Given the description of an element on the screen output the (x, y) to click on. 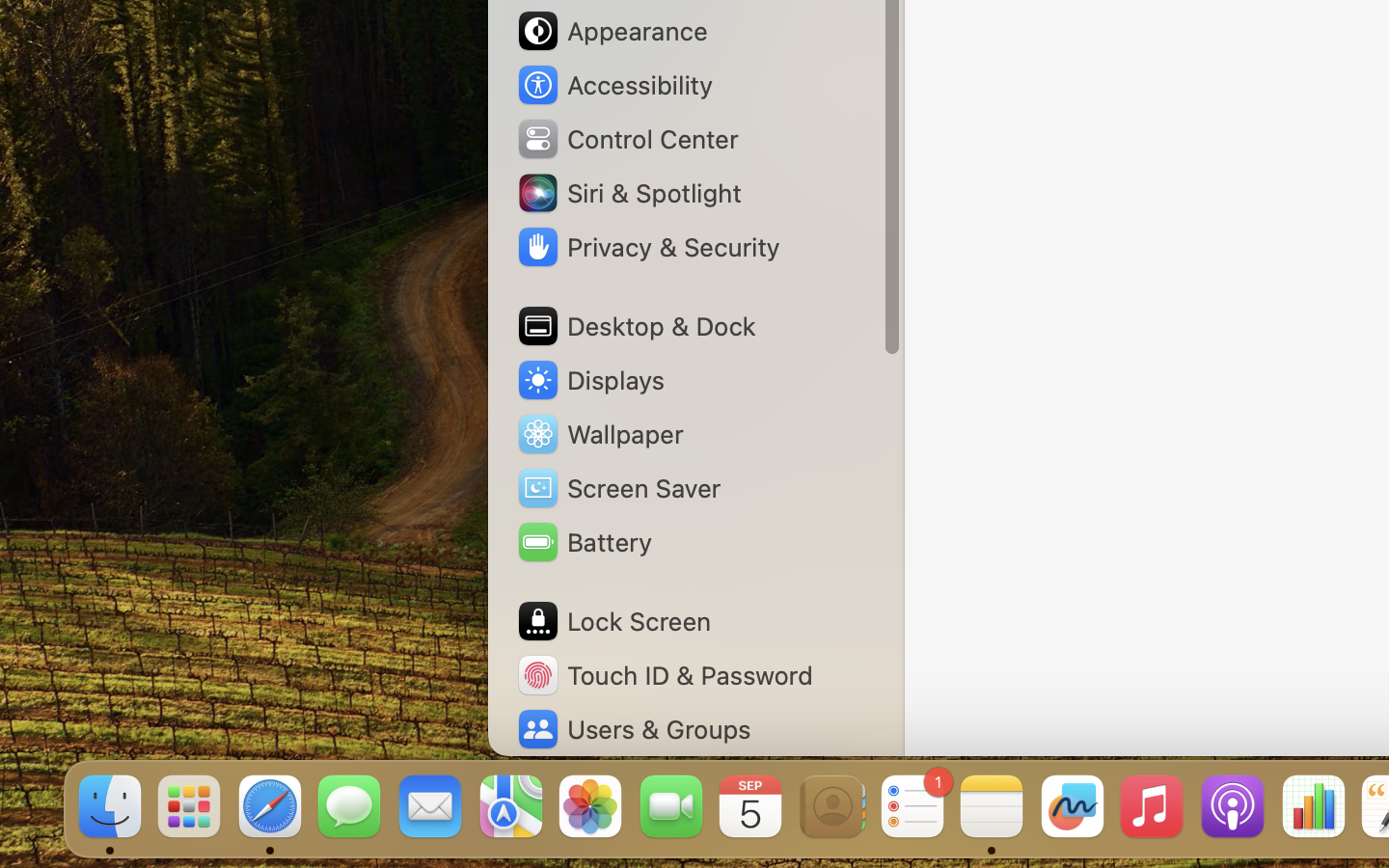
Screen Saver Element type: AXStaticText (618, 487)
Wallpaper Element type: AXStaticText (598, 433)
Users & Groups Element type: AXStaticText (632, 728)
Displays Element type: AXStaticText (590, 379)
Desktop & Dock Element type: AXStaticText (635, 325)
